Given the description of an element on the screen output the (x, y) to click on. 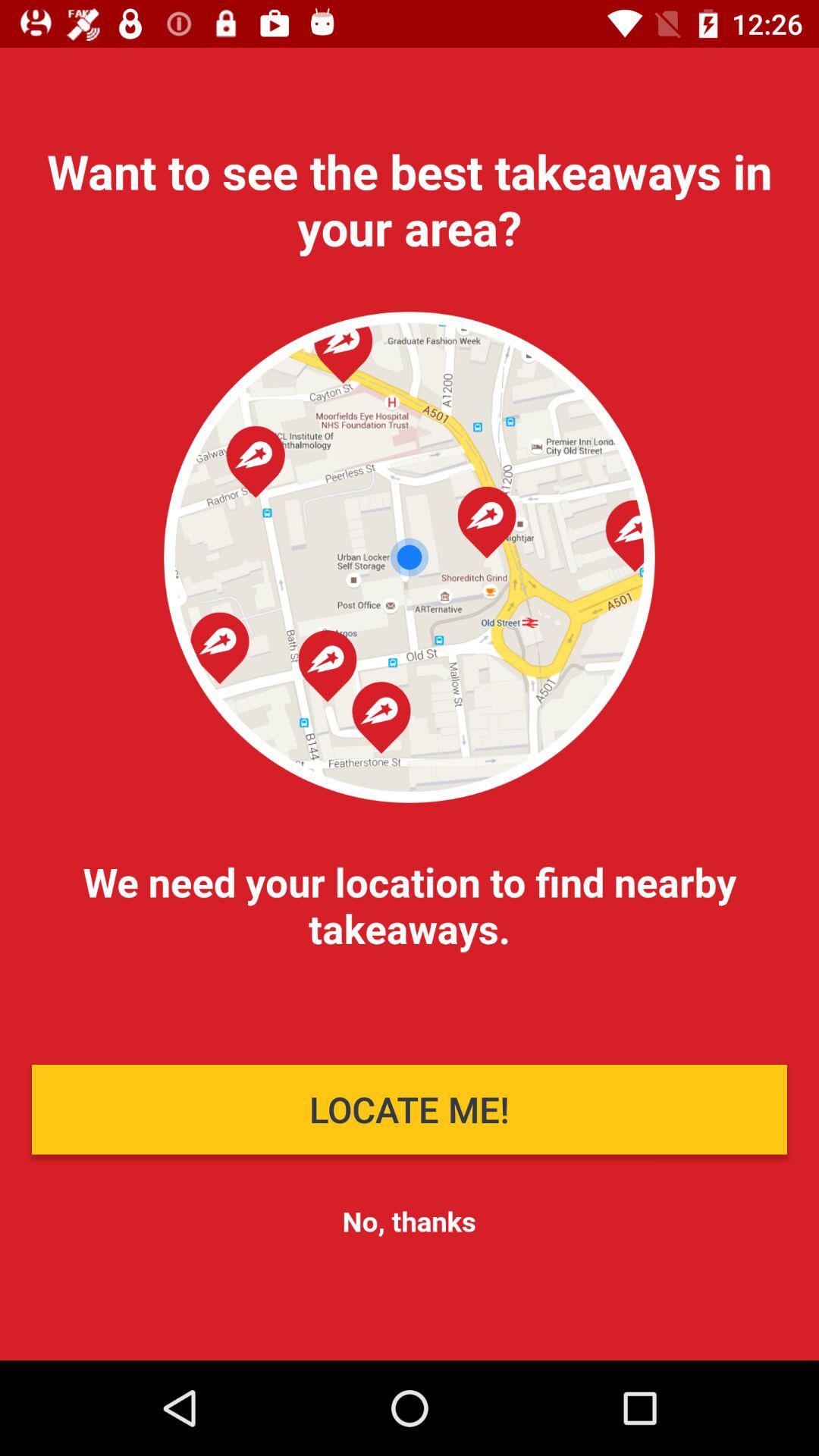
select the no, thanks icon (409, 1220)
